Given the description of an element on the screen output the (x, y) to click on. 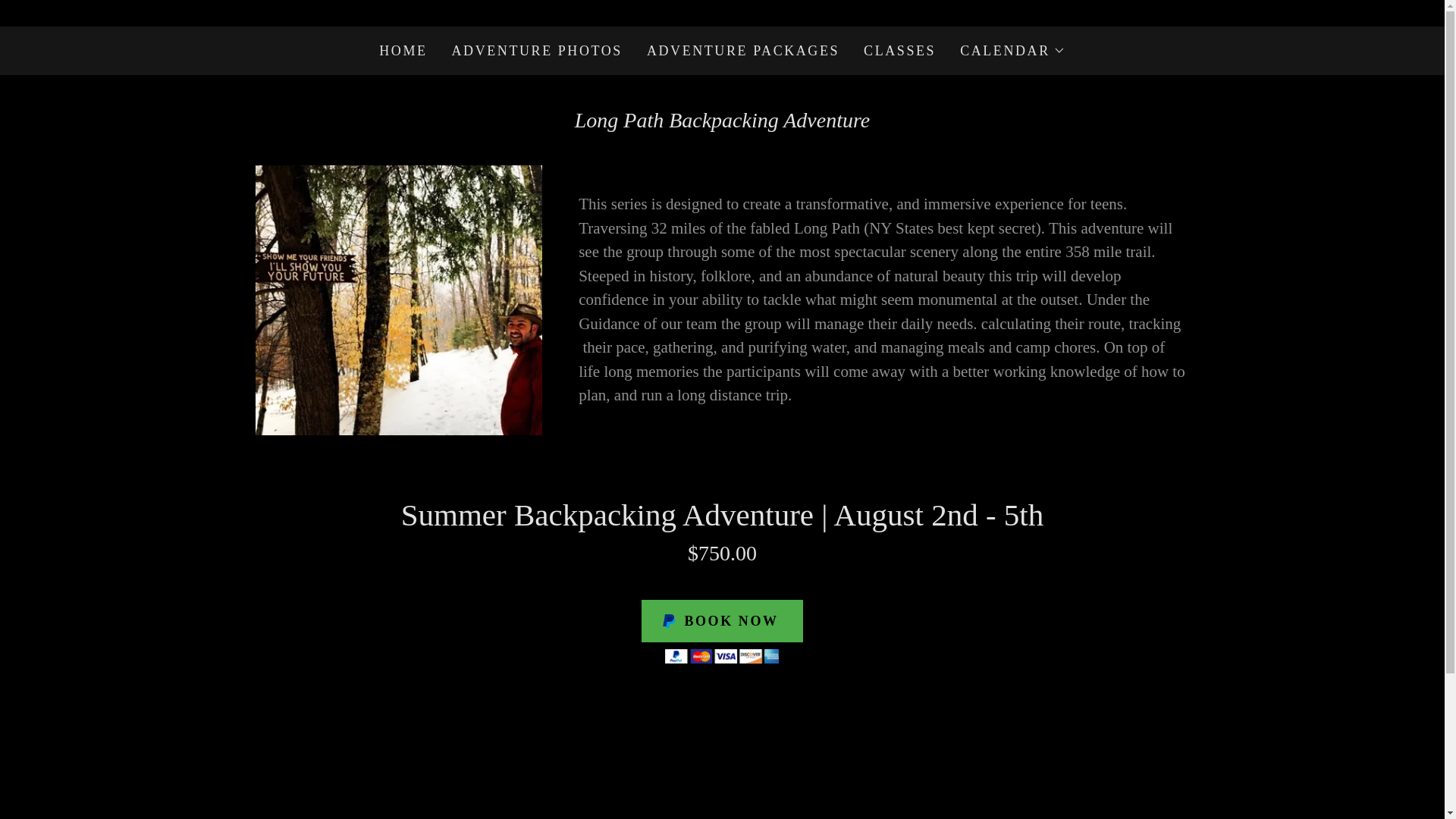
ADVENTURE PACKAGES (743, 50)
BOOK NOW (722, 620)
HOME (402, 50)
CALENDAR (1012, 50)
ADVENTURE PHOTOS (536, 50)
CLASSES (899, 50)
